Given the description of an element on the screen output the (x, y) to click on. 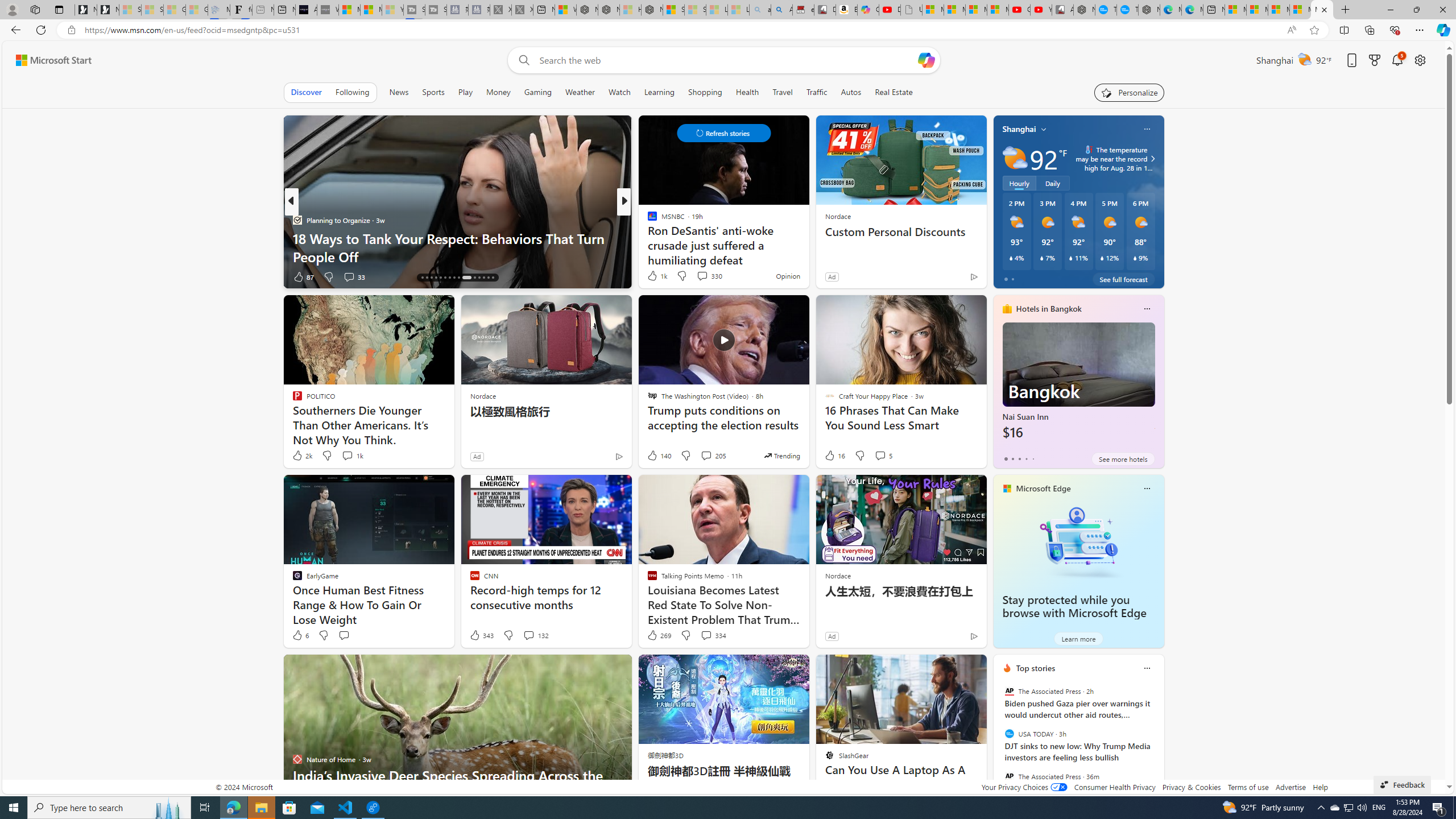
View comments 1 Comment (702, 276)
Sports (432, 92)
Day 1: Arriving in Yemen (surreal to be here) - YouTube (889, 9)
Feedback (1402, 784)
tab-1 (1012, 458)
Shopping (705, 92)
This story is trending (781, 455)
View comments 6 Comment (6, 276)
Dislike (685, 634)
Following (352, 92)
Split screen (1344, 29)
View comments 334 Comment (712, 634)
Privacy & Cookies (1191, 786)
